Given the description of an element on the screen output the (x, y) to click on. 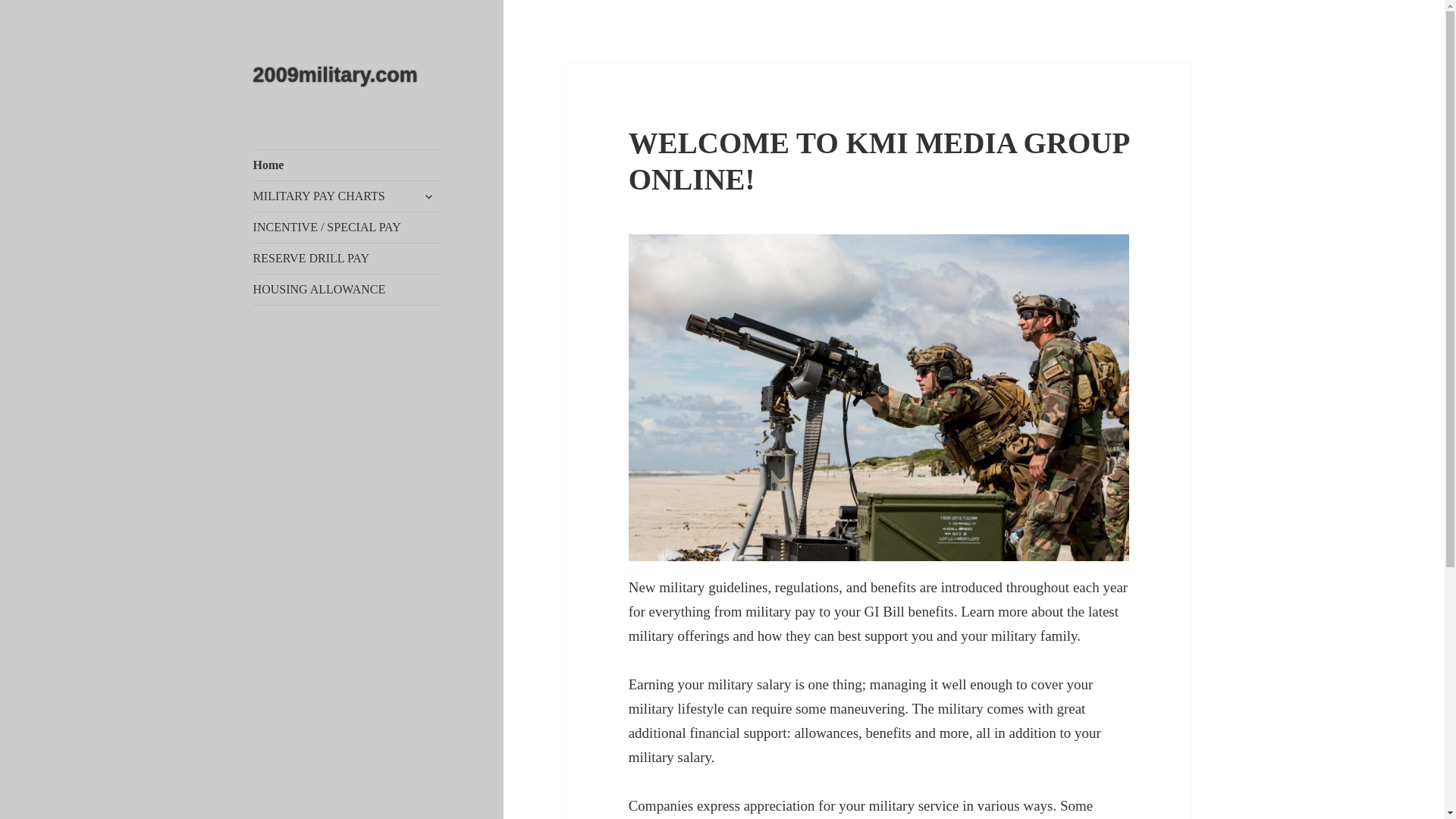
RESERVE DRILL PAY Element type: text (347, 258)
HOUSING ALLOWANCE Element type: text (347, 289)
Home Element type: text (347, 165)
expand child menu Element type: text (428, 196)
MILITARY PAY CHARTS Element type: text (347, 196)
INCENTIVE / SPECIAL PAY Element type: text (347, 227)
2009military.com Element type: text (335, 74)
